Given the description of an element on the screen output the (x, y) to click on. 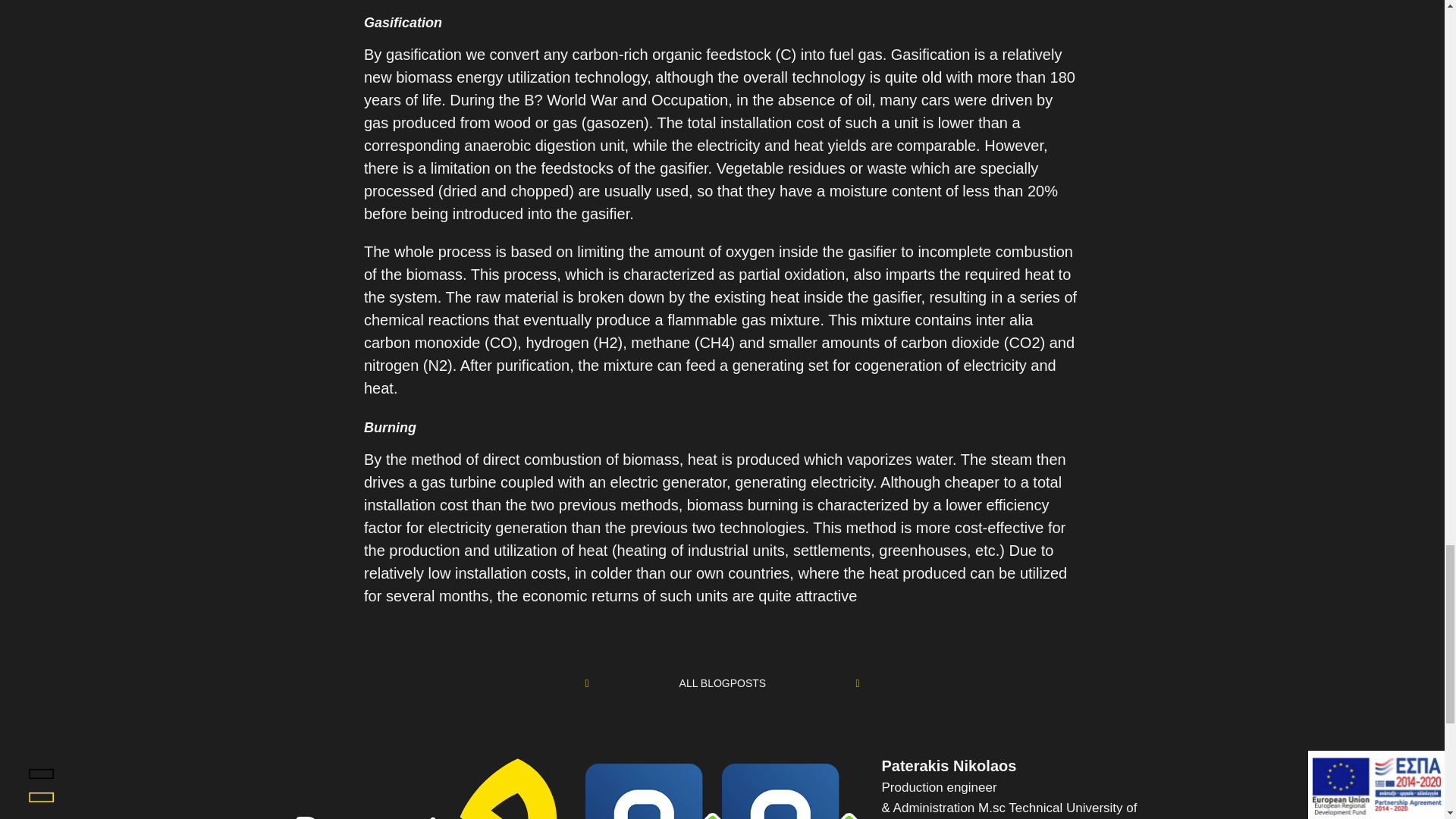
prev-page (843, 683)
NEXT (843, 683)
next-blog (600, 683)
ALL BLOGPOSTS (723, 683)
PREV (600, 683)
read-more (723, 683)
